Given the description of an element on the screen output the (x, y) to click on. 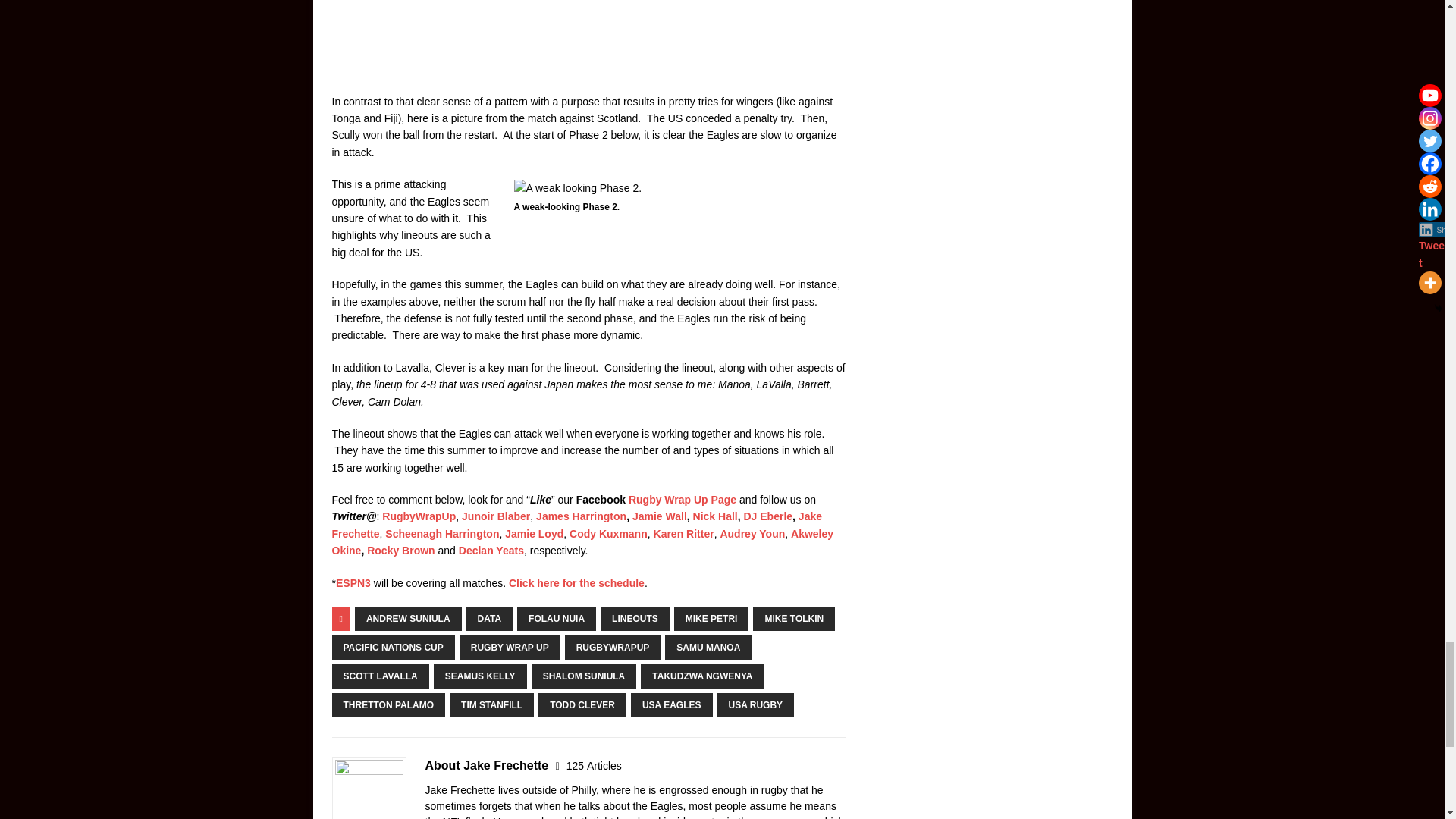
A good maul ends badly. (588, 36)
